Given the description of an element on the screen output the (x, y) to click on. 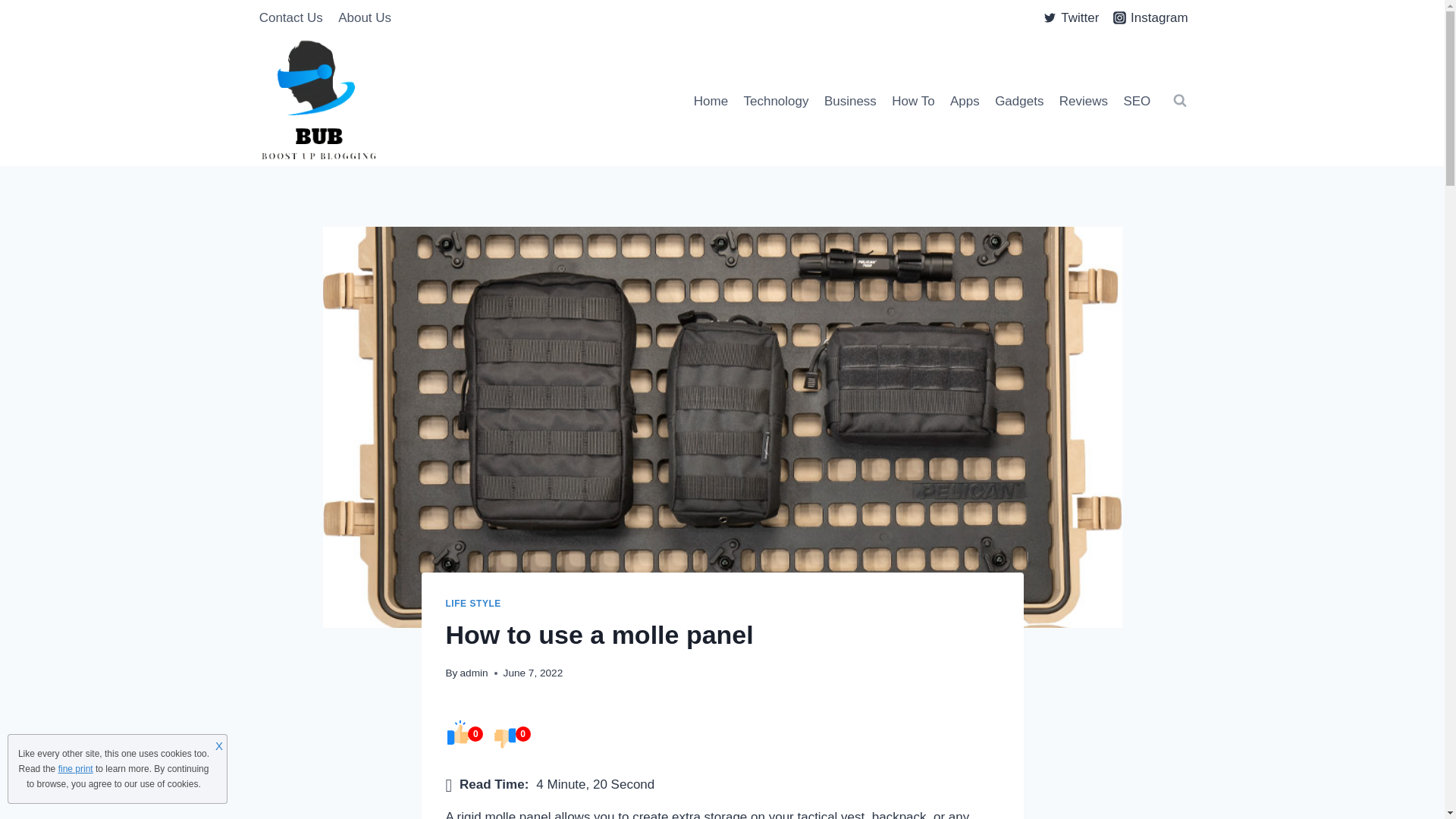
How To (912, 100)
Reviews (1083, 100)
Technology (775, 100)
Instagram (1150, 17)
About Us (364, 18)
Business (849, 100)
Contact Us (290, 18)
Twitter (1072, 17)
admin (473, 672)
Gadgets (1019, 100)
Apps (964, 100)
SEO (1136, 100)
LIFE STYLE (472, 603)
Home (710, 100)
